Given the description of an element on the screen output the (x, y) to click on. 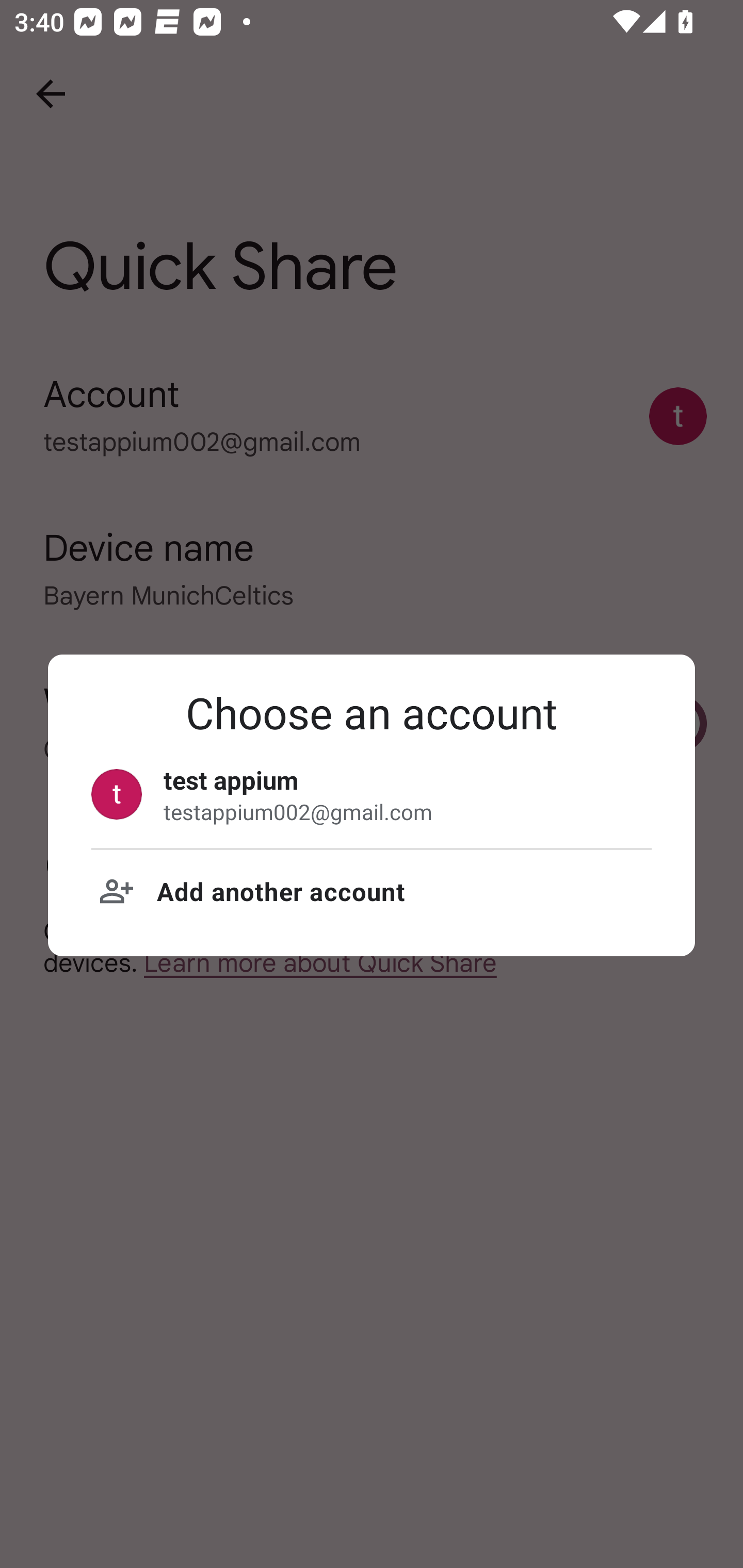
test appium testappium002@gmail.com (371, 794)
Add another account (371, 891)
